Given the description of an element on the screen output the (x, y) to click on. 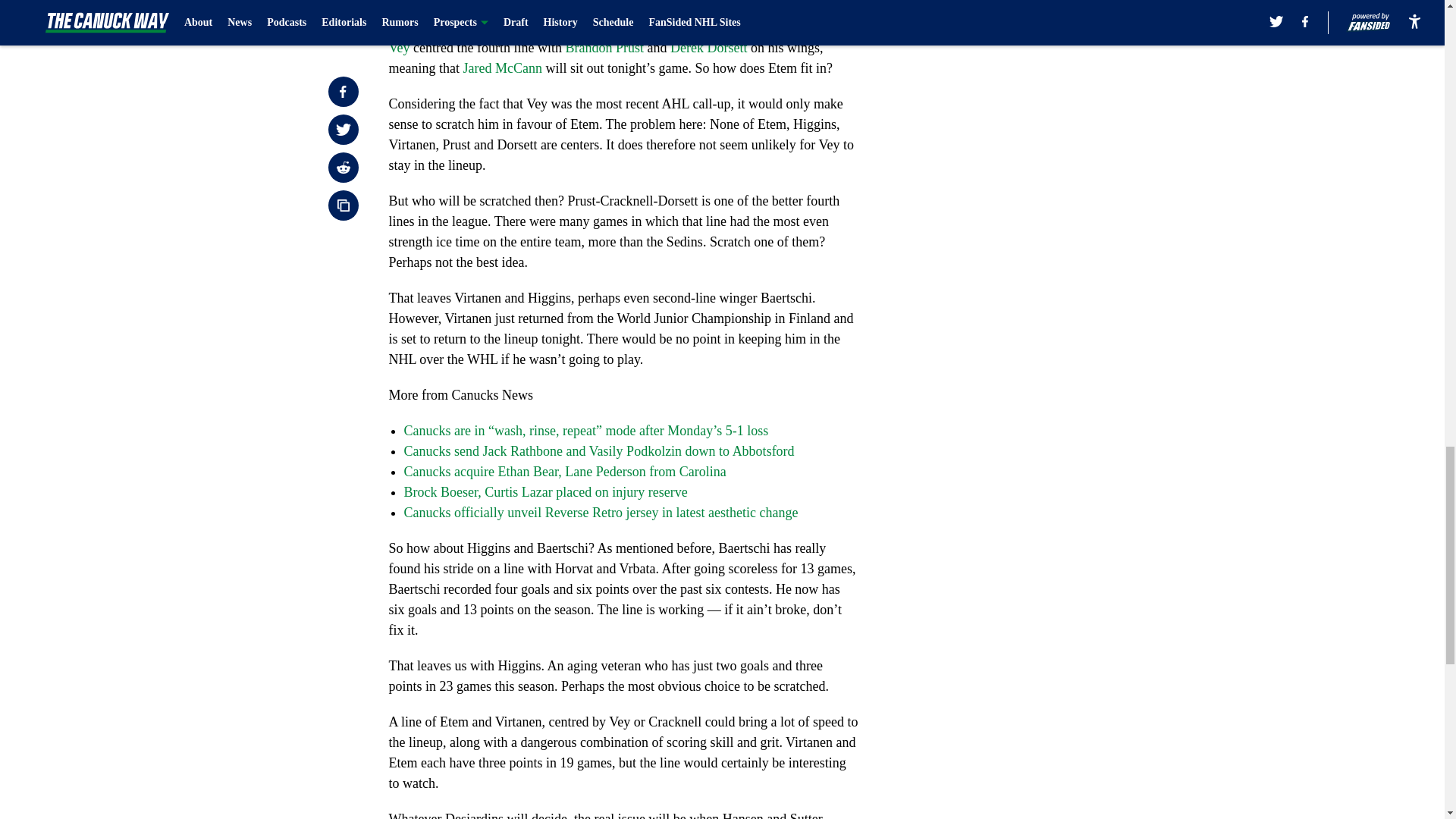
Linden Vey (622, 37)
Brandon Prust (603, 47)
Adam Cracknell (764, 27)
Chris Higgins (607, 17)
Derek Dorsett (707, 47)
